Given the description of an element on the screen output the (x, y) to click on. 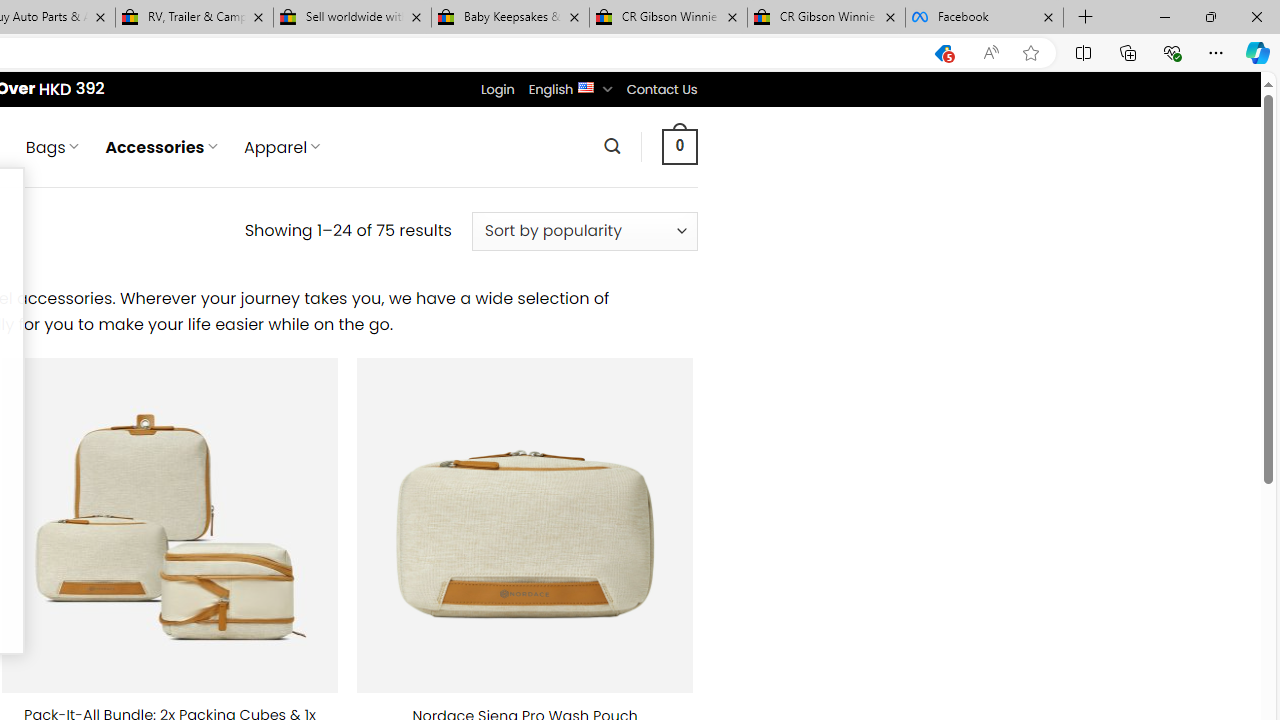
Shop order (584, 231)
